Given the description of an element on the screen output the (x, y) to click on. 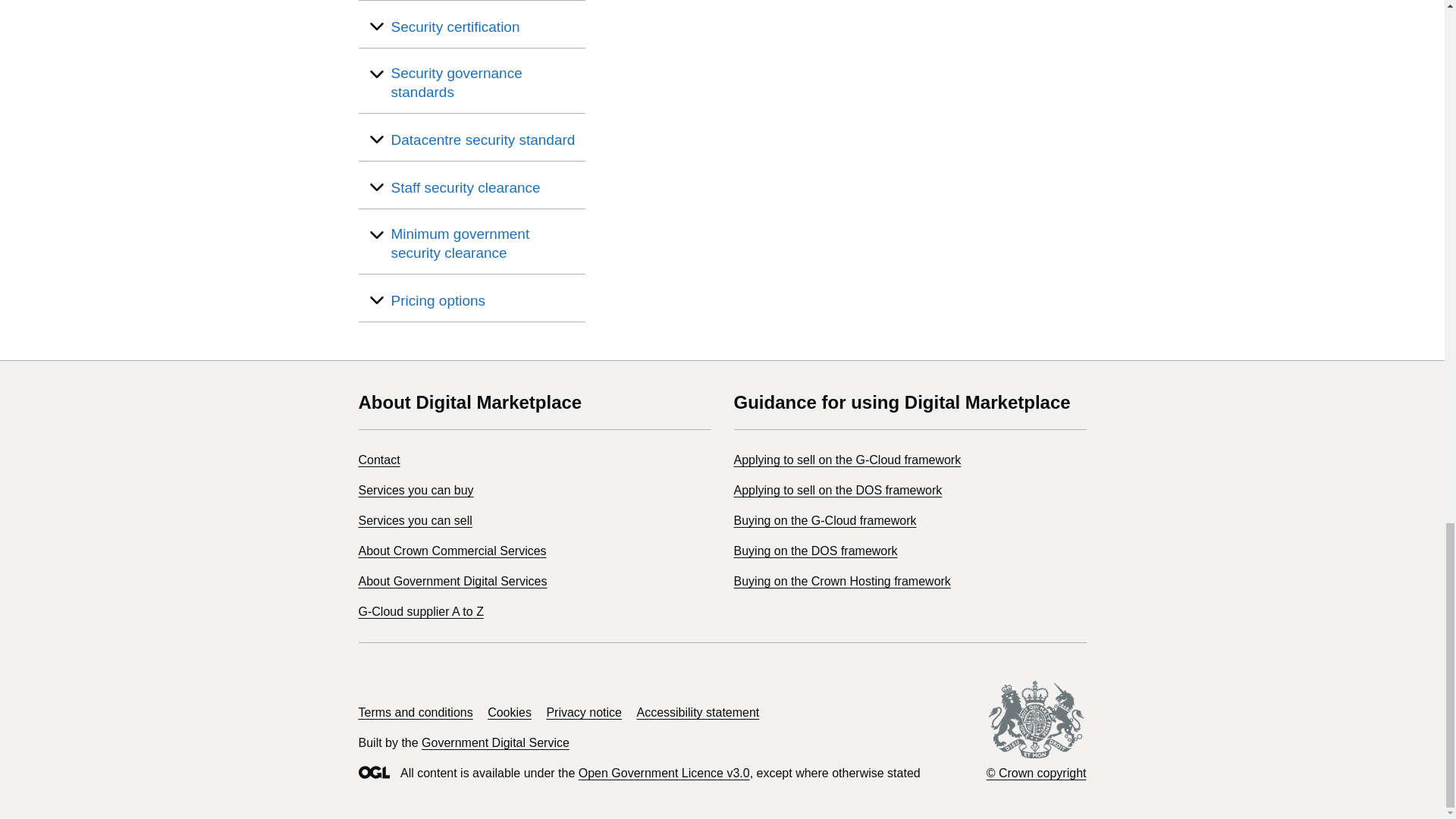
Security certification (455, 26)
Pricing options (438, 300)
Staff security clearance (465, 187)
Contact (378, 459)
Security governance standards (485, 82)
Minimum government security clearance (485, 243)
Datacentre security standard (483, 139)
